Given the description of an element on the screen output the (x, y) to click on. 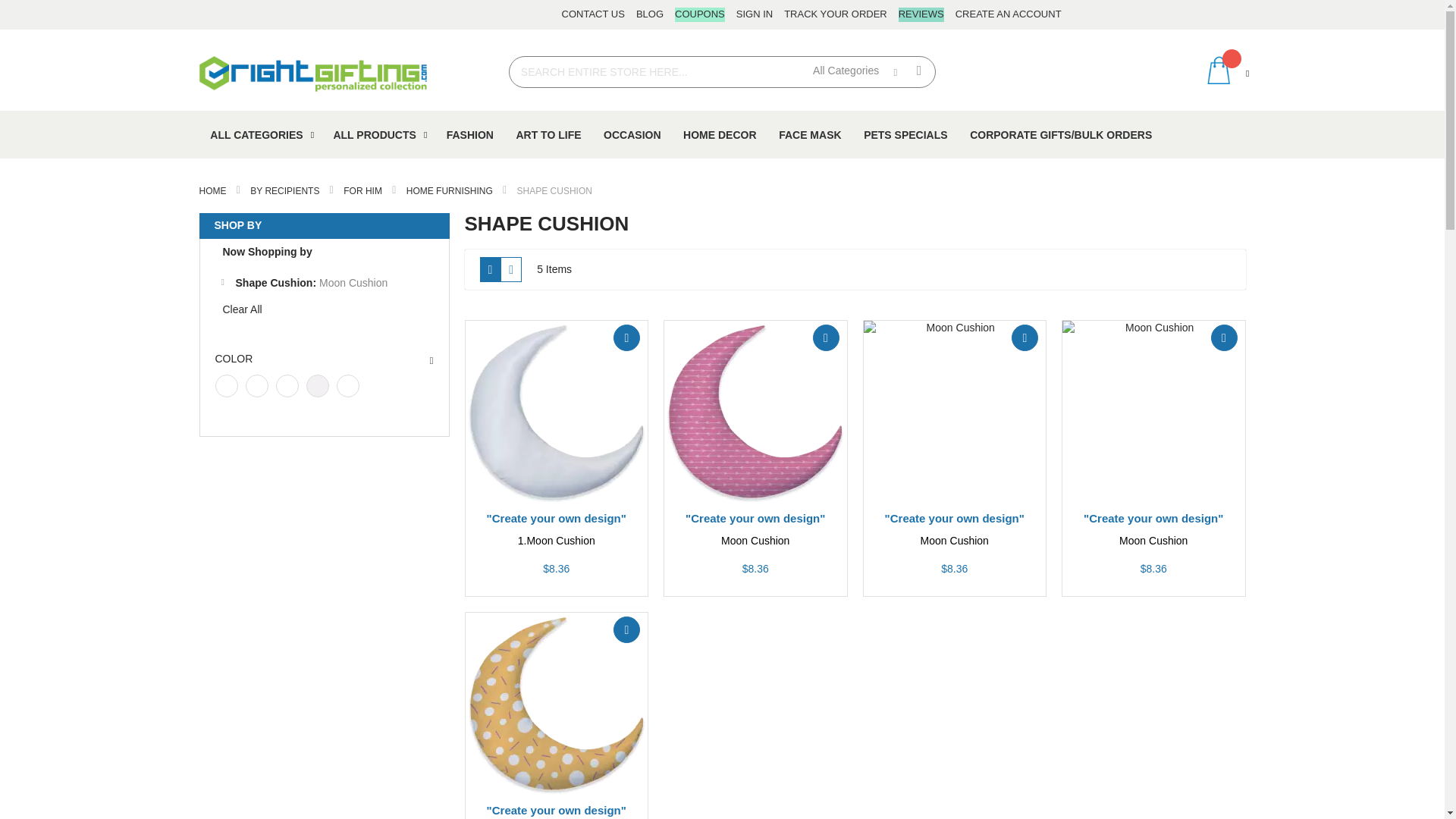
REVIEWS (920, 14)
TRACK YOUR ORDER (835, 14)
Right Gifting (312, 73)
COUPONS (700, 14)
All Categories (850, 70)
Go to Home Page (213, 190)
CONTACT US (593, 14)
Search (919, 69)
BLOG (649, 14)
SIGN IN (754, 14)
CREATE AN ACCOUNT (1008, 14)
